Given the description of an element on the screen output the (x, y) to click on. 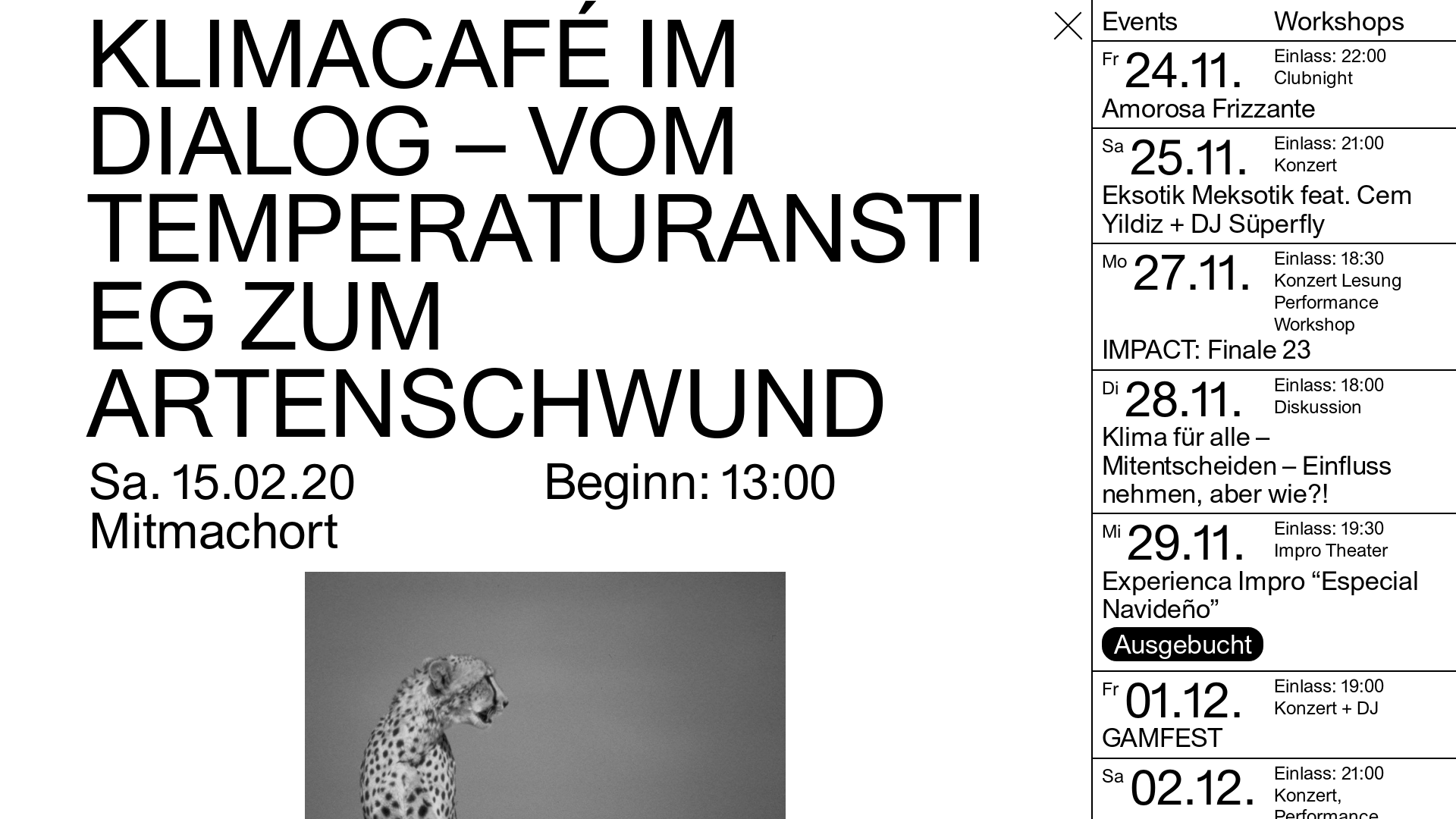
Events Element type: text (1187, 20)
Workshops Element type: text (1360, 20)
Ausgebucht Element type: text (1182, 644)
